Given the description of an element on the screen output the (x, y) to click on. 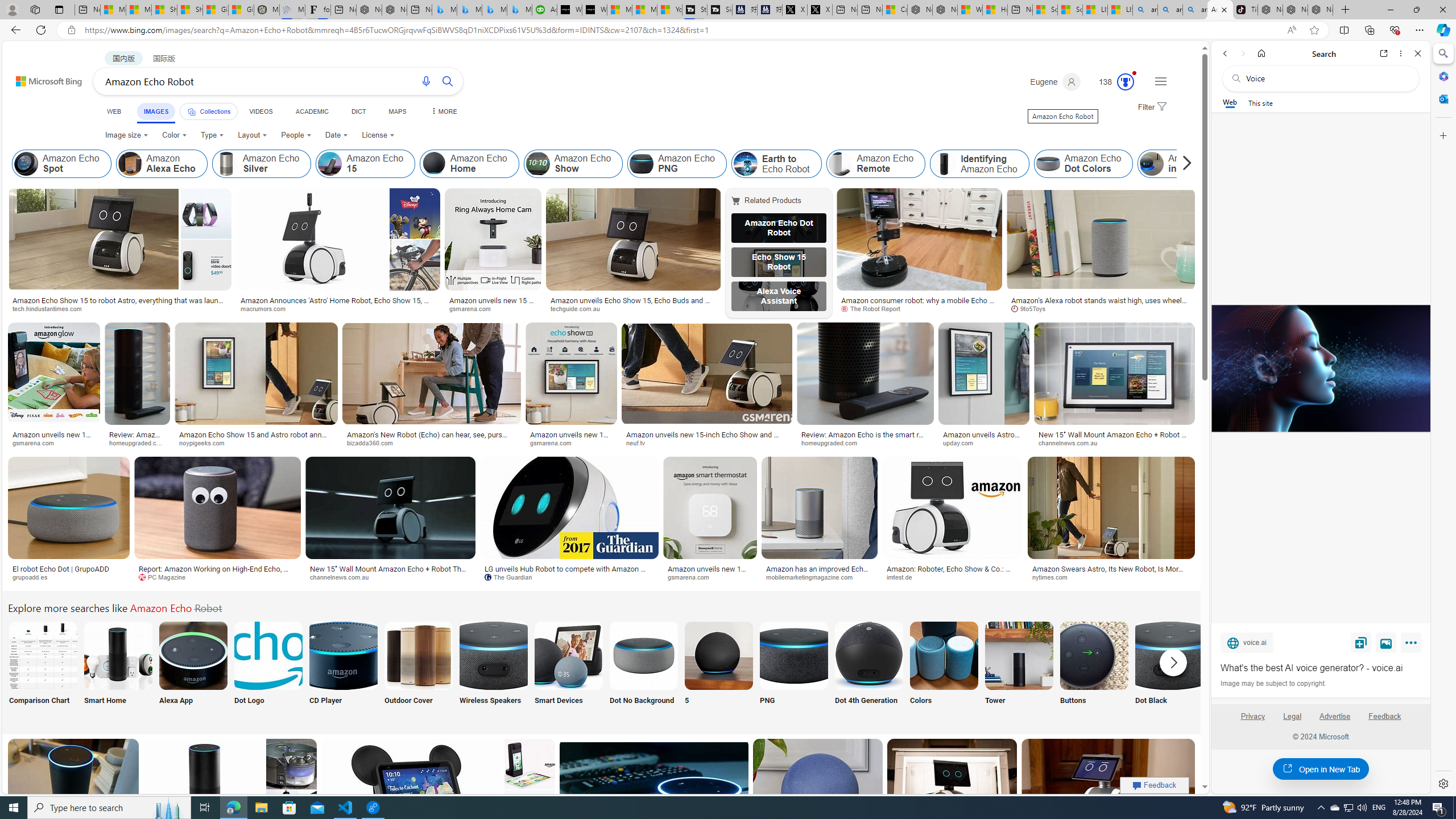
Type (212, 135)
Amazon Echo Outdoor Cover Outdoor Cover (418, 669)
Amazon Echo Dot Colors (1047, 163)
Alexa Voice Assistant (778, 296)
Amazon Echo Outdoor Cover (418, 654)
grupoadd.es (34, 576)
License (378, 135)
Amazon Echo Show 15 and Astro robot announced | NoypiGeeks (255, 438)
neuf.tv (639, 442)
El robot Echo Dot | GrupoADD (69, 568)
